Given the description of an element on the screen output the (x, y) to click on. 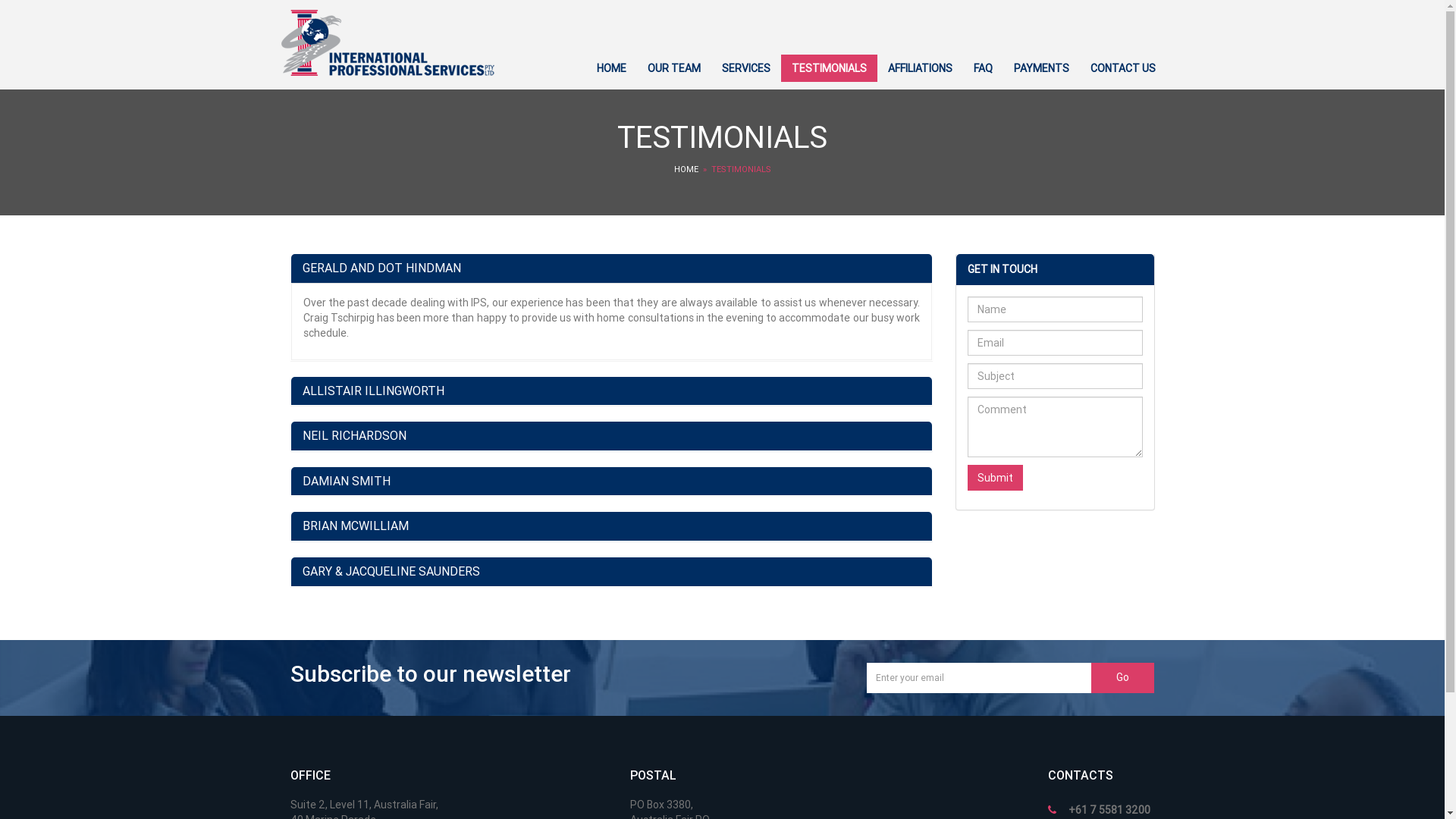
NEIL RICHARDSON Element type: text (610, 435)
ALLISTAIR ILLINGWORTH Element type: text (610, 391)
CONTACT US Element type: text (1122, 67)
TESTIMONIALS Element type: text (829, 67)
HOME Element type: text (685, 169)
GARY & JACQUELINE SAUNDERS Element type: text (610, 571)
HOME Element type: text (610, 67)
OUR TEAM Element type: text (674, 67)
DAMIAN SMITH Element type: text (610, 481)
FAQ Element type: text (983, 67)
Submit Element type: text (994, 477)
Go Element type: text (1122, 677)
PAYMENTS Element type: text (1040, 67)
GERALD AND DOT HINDMAN Element type: text (380, 267)
BRIAN MCWILLIAM Element type: text (610, 526)
+61 7 5581 3200 Element type: text (1108, 809)
SERVICES Element type: text (746, 67)
AFFILIATIONS Element type: text (919, 67)
